Given the description of an element on the screen output the (x, y) to click on. 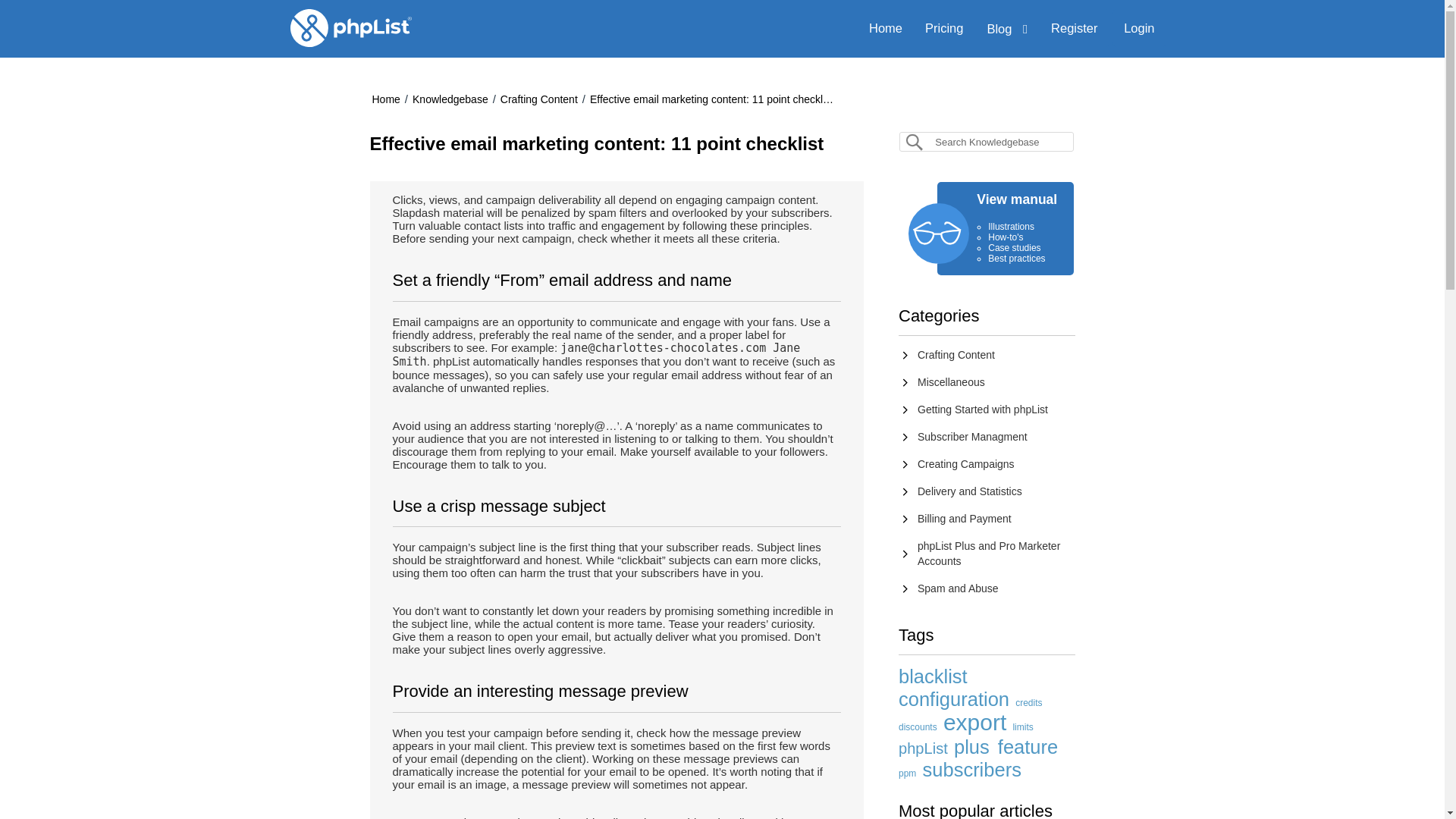
Home (885, 27)
View (965, 463)
export (974, 722)
discounts (917, 726)
View (988, 553)
View (964, 518)
View (972, 436)
View (982, 409)
View (957, 588)
View (969, 491)
ppm (906, 773)
configuration (953, 699)
Knowledgebase (449, 99)
limits (1021, 726)
